Given the description of an element on the screen output the (x, y) to click on. 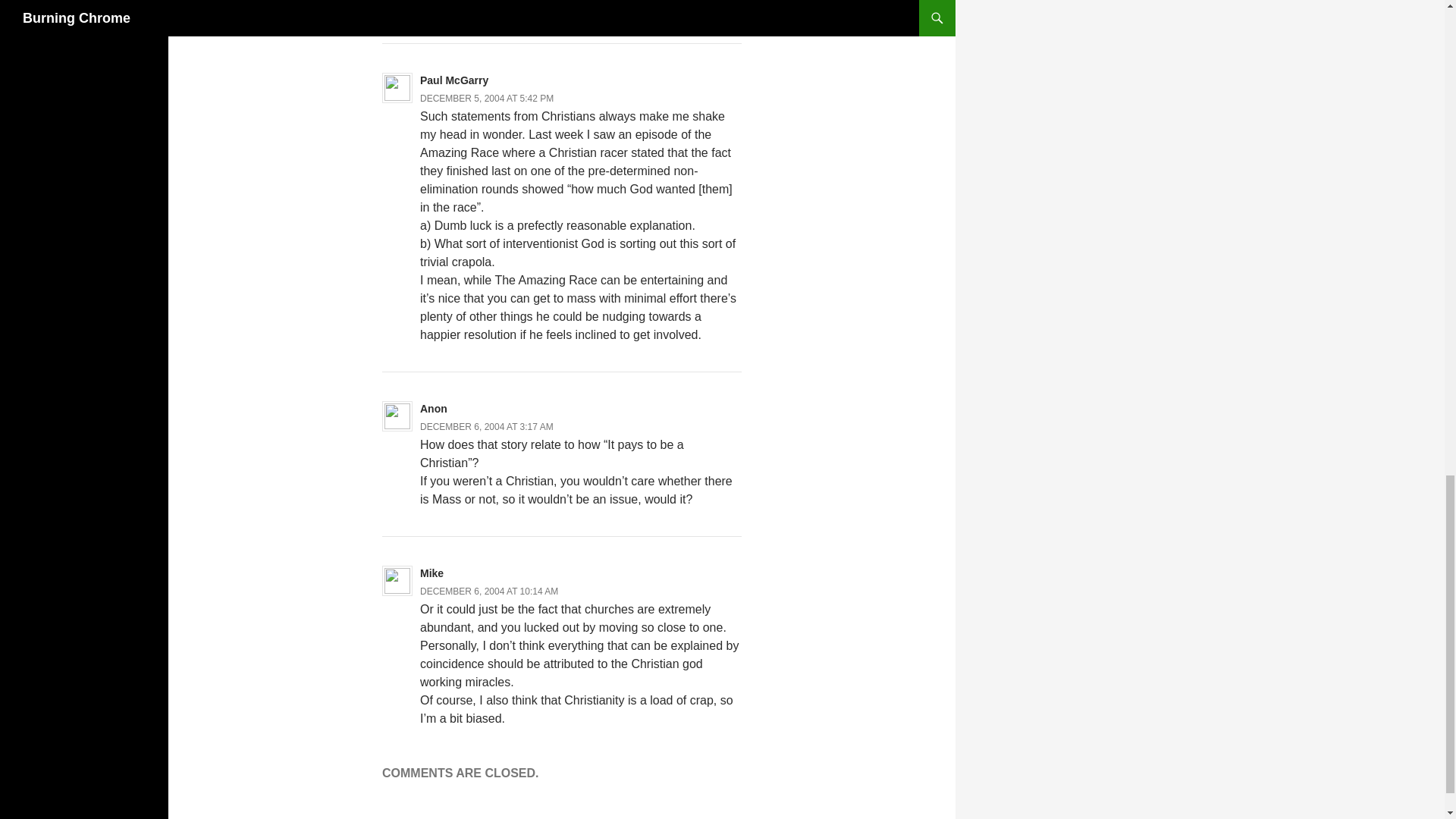
DECEMBER 6, 2004 AT 3:17 AM (486, 426)
Mike (432, 573)
DECEMBER 6, 2004 AT 10:14 AM (488, 591)
DECEMBER 5, 2004 AT 5:42 PM (486, 98)
